Given the description of an element on the screen output the (x, y) to click on. 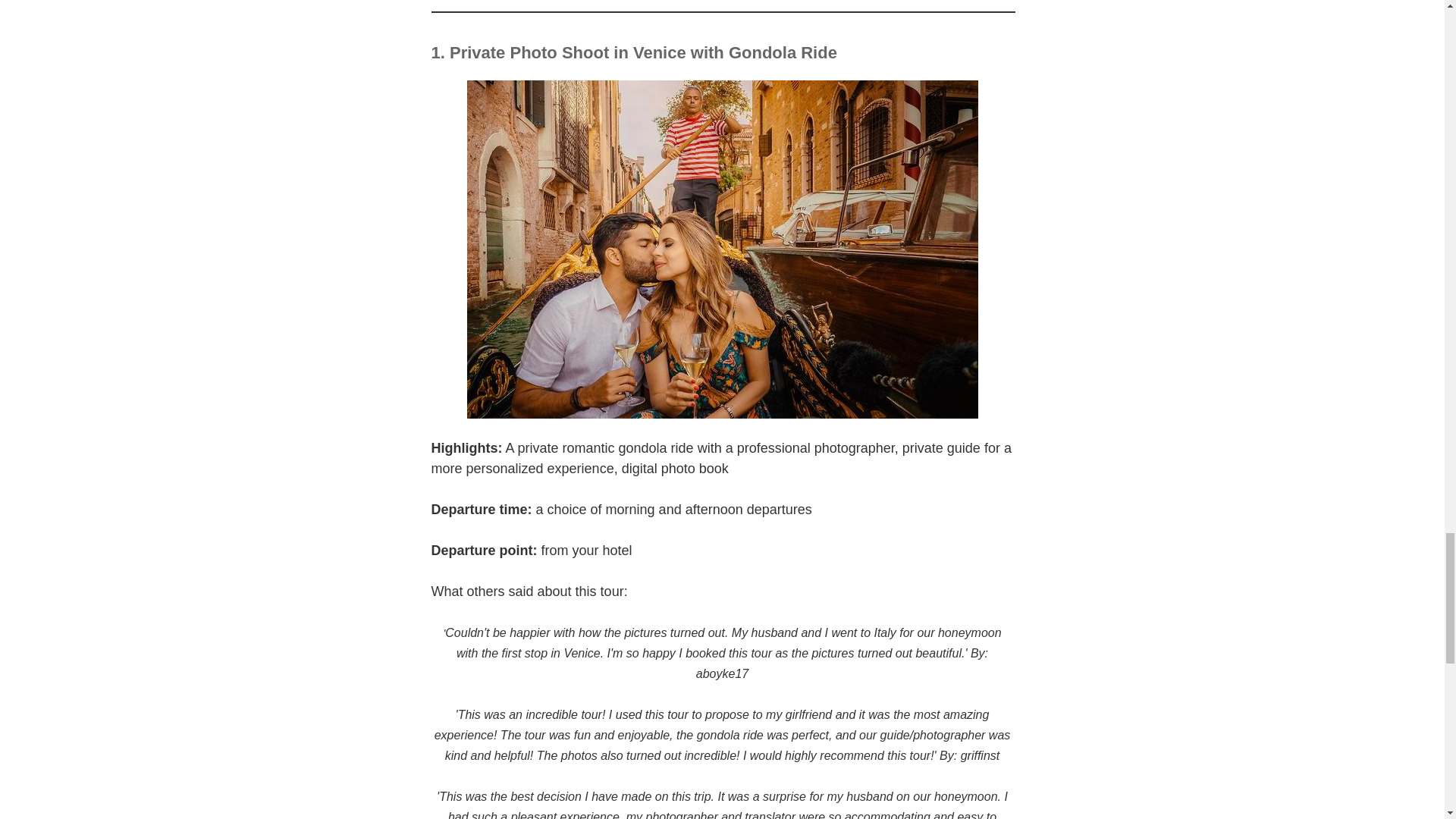
Private Photo Shoot in Venice with Gondola Ride (643, 52)
